Given the description of an element on the screen output the (x, y) to click on. 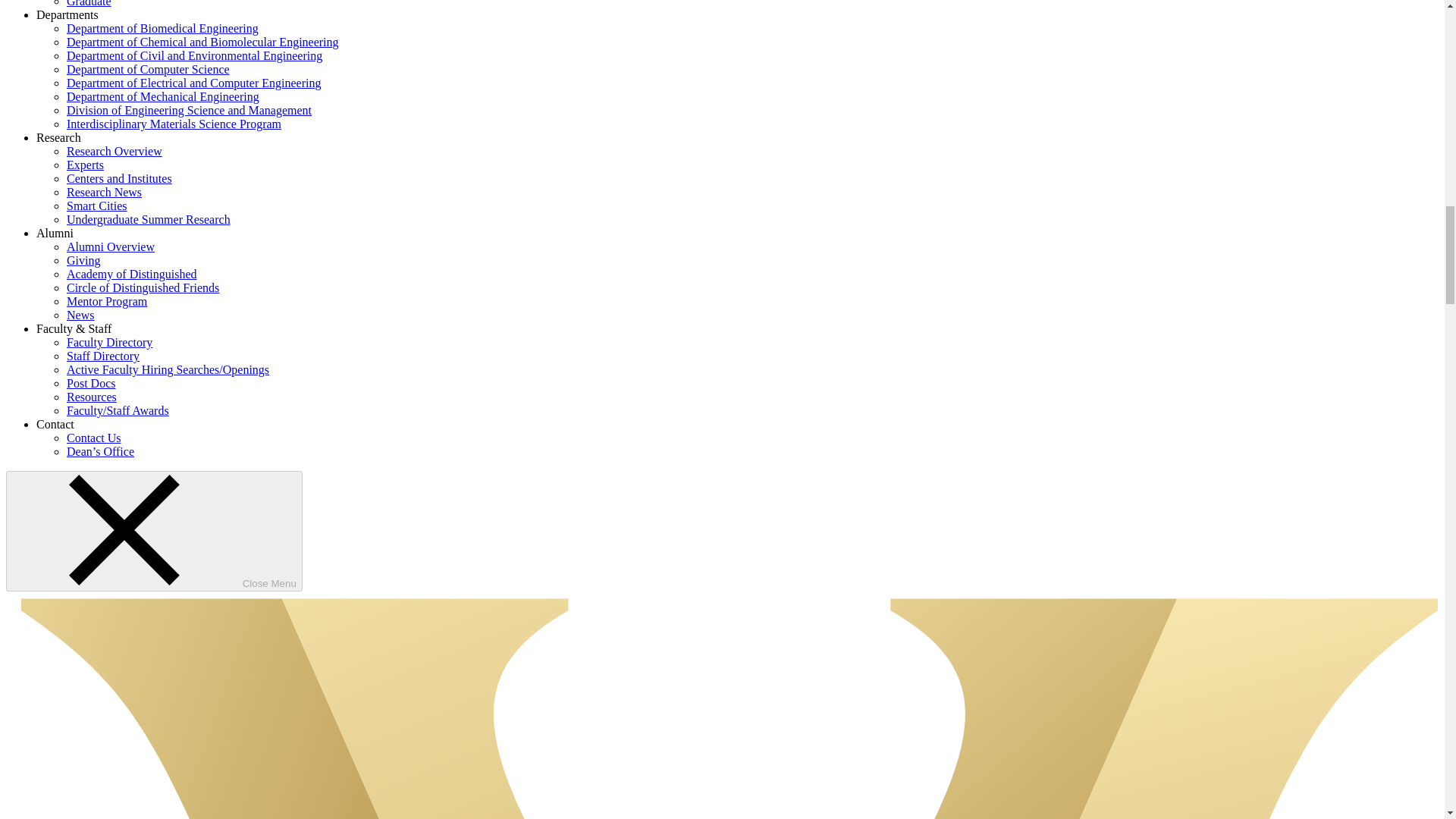
Department of Chemical and Biomolecular Engineering (202, 42)
Department of Biomedical Engineering (162, 28)
Graduate (89, 3)
Research Overview (113, 151)
Department of Electrical and Computer Engineering (193, 82)
Departments (67, 14)
Research (58, 137)
Department of Computer Science (148, 69)
Interdisciplinary Materials Science Program (173, 123)
Alumni (55, 232)
Research News (103, 192)
Circle of Distinguished Friends (142, 287)
Undergraduate Summer Research (148, 219)
Alumni Overview (110, 246)
Centers and Institutes (118, 178)
